Given the description of an element on the screen output the (x, y) to click on. 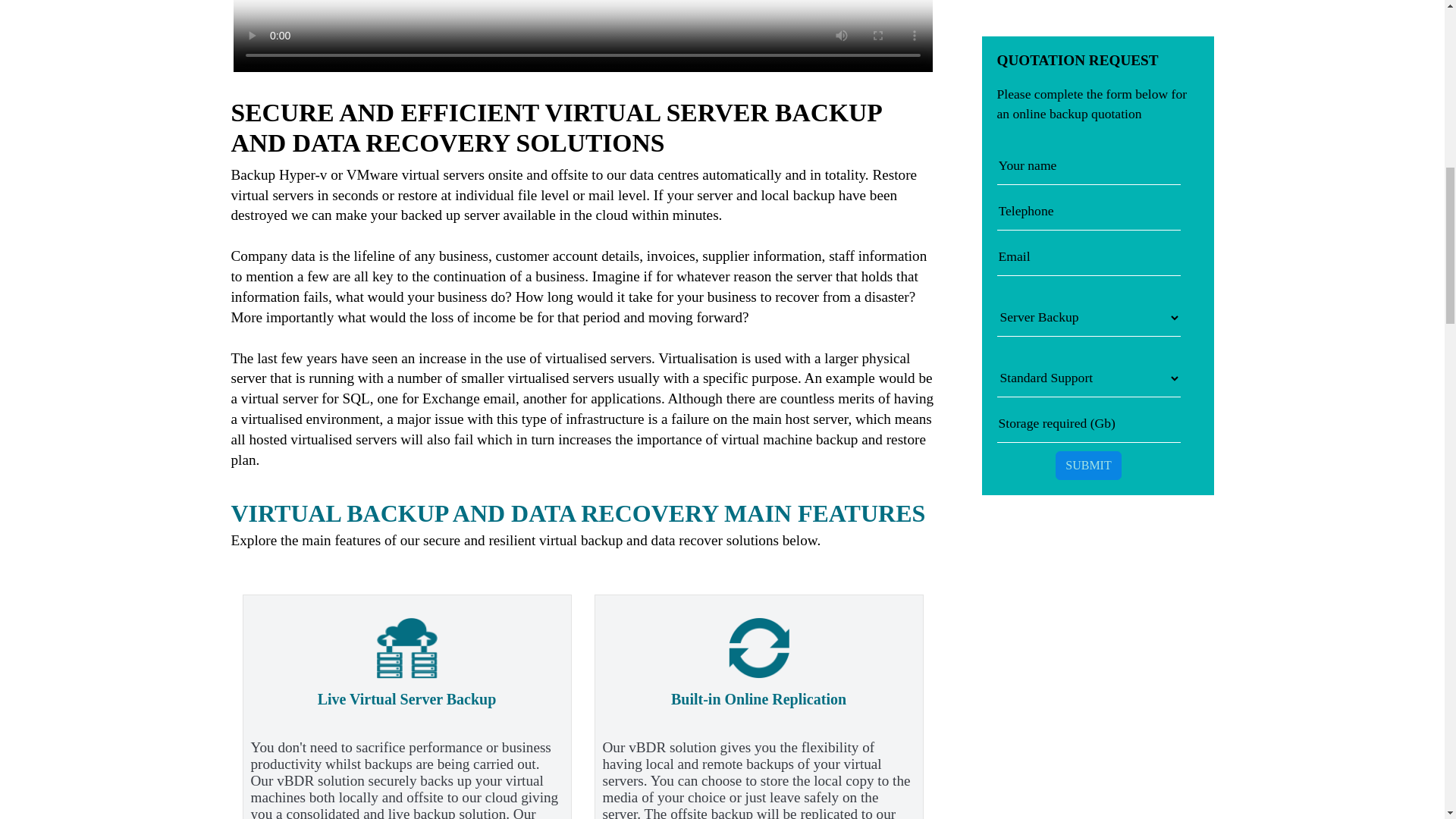
SUBMIT (1088, 149)
SUBMIT (1088, 149)
